Given the description of an element on the screen output the (x, y) to click on. 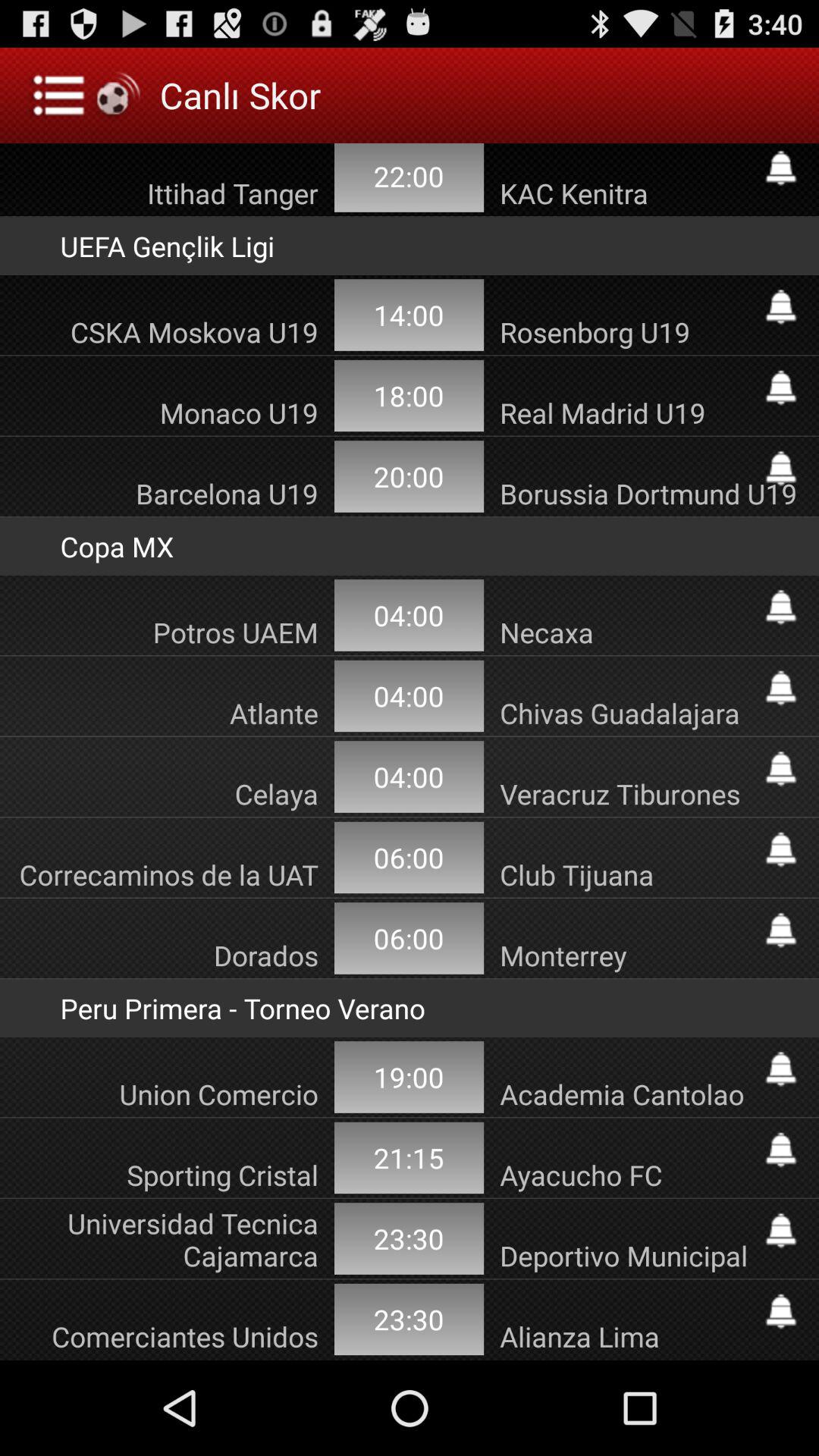
turn on alerts (780, 768)
